Given the description of an element on the screen output the (x, y) to click on. 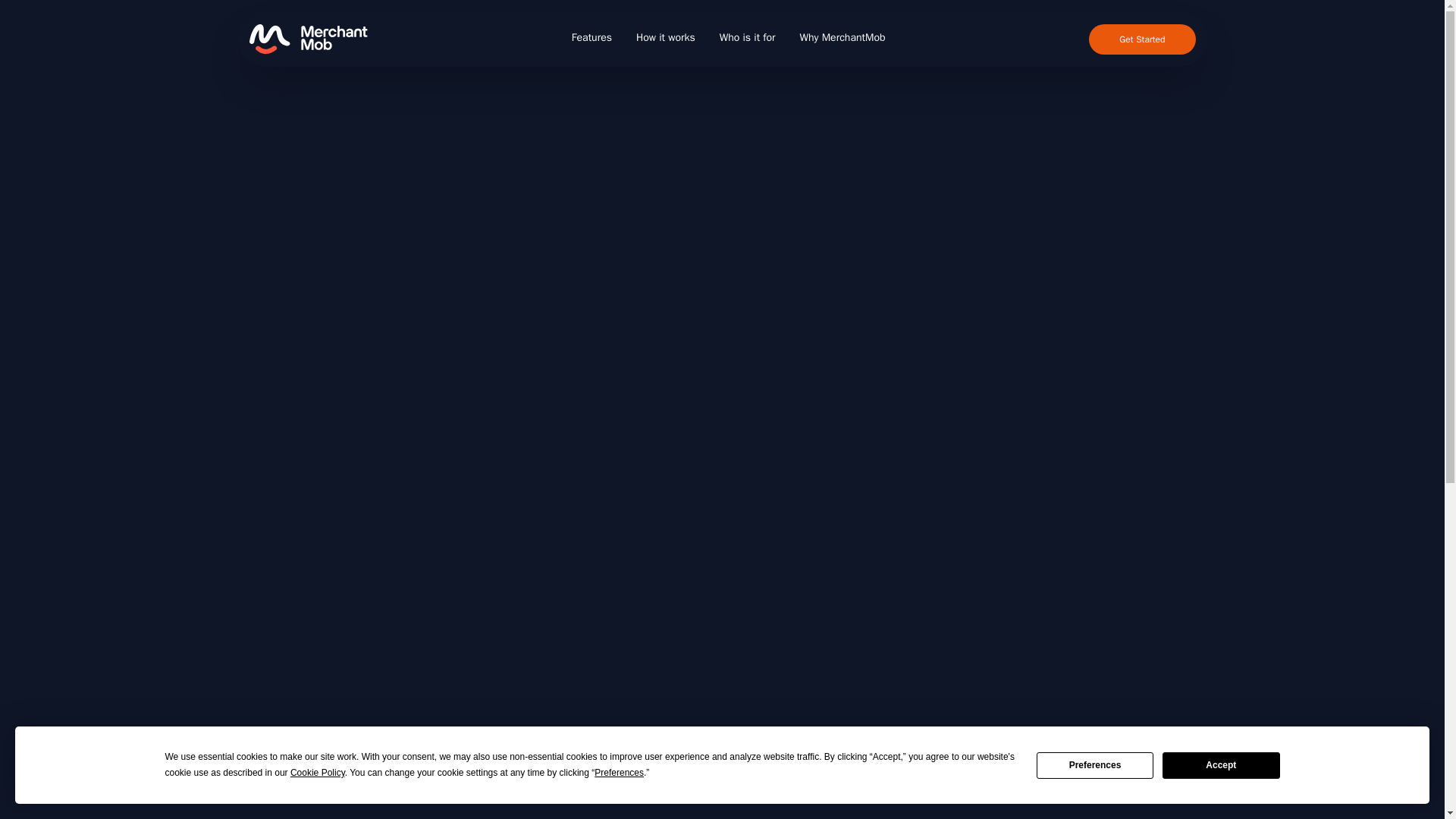
Accept (1220, 765)
Why MerchantMob (842, 37)
Who is it for (747, 37)
How it works (665, 37)
Features (591, 37)
Get Started (1142, 39)
Preferences (1094, 765)
